Given the description of an element on the screen output the (x, y) to click on. 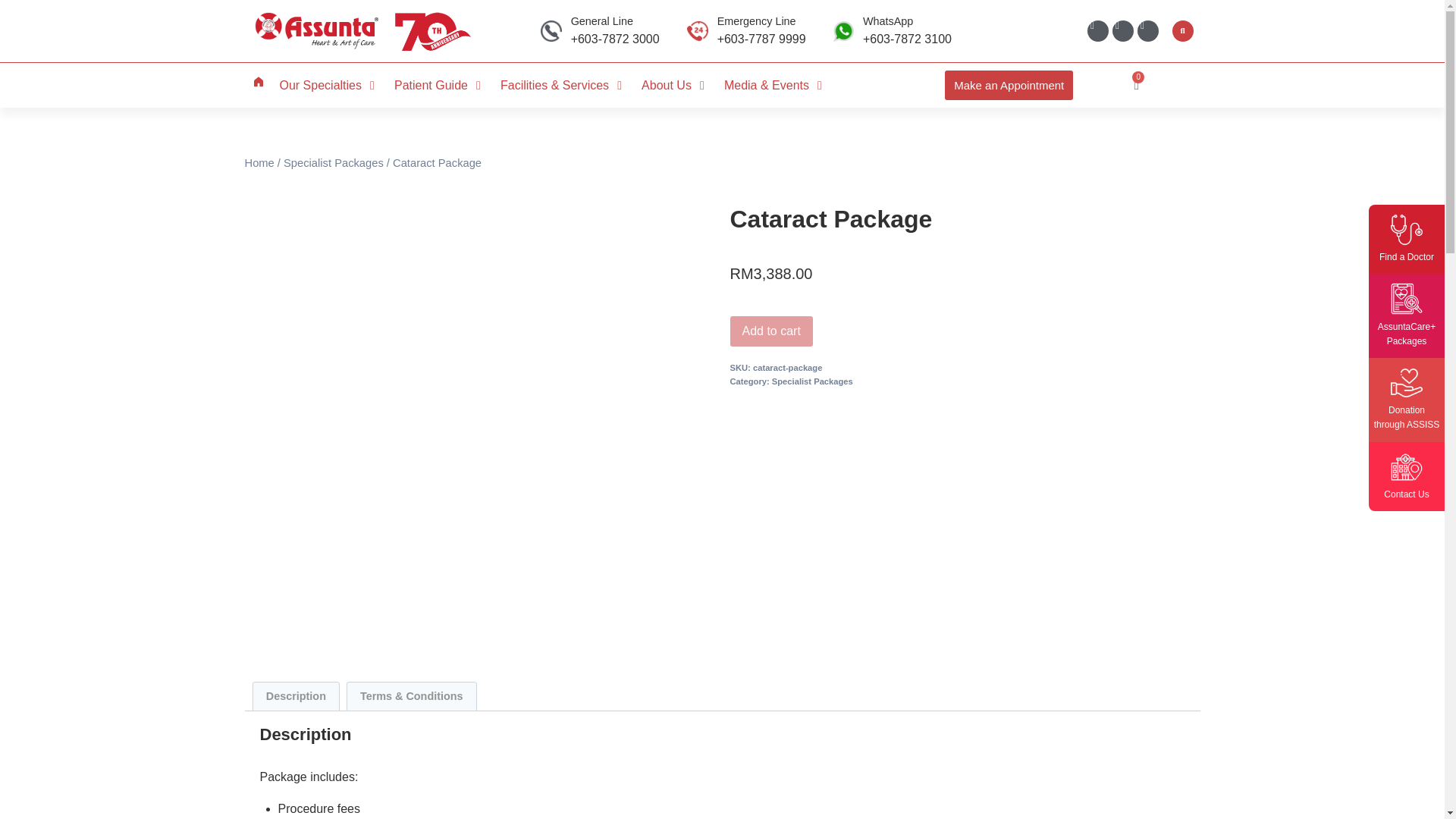
Emergency Line (756, 21)
Our Specialties (320, 85)
WhatsApp (887, 21)
General Line (601, 21)
